Given the description of an element on the screen output the (x, y) to click on. 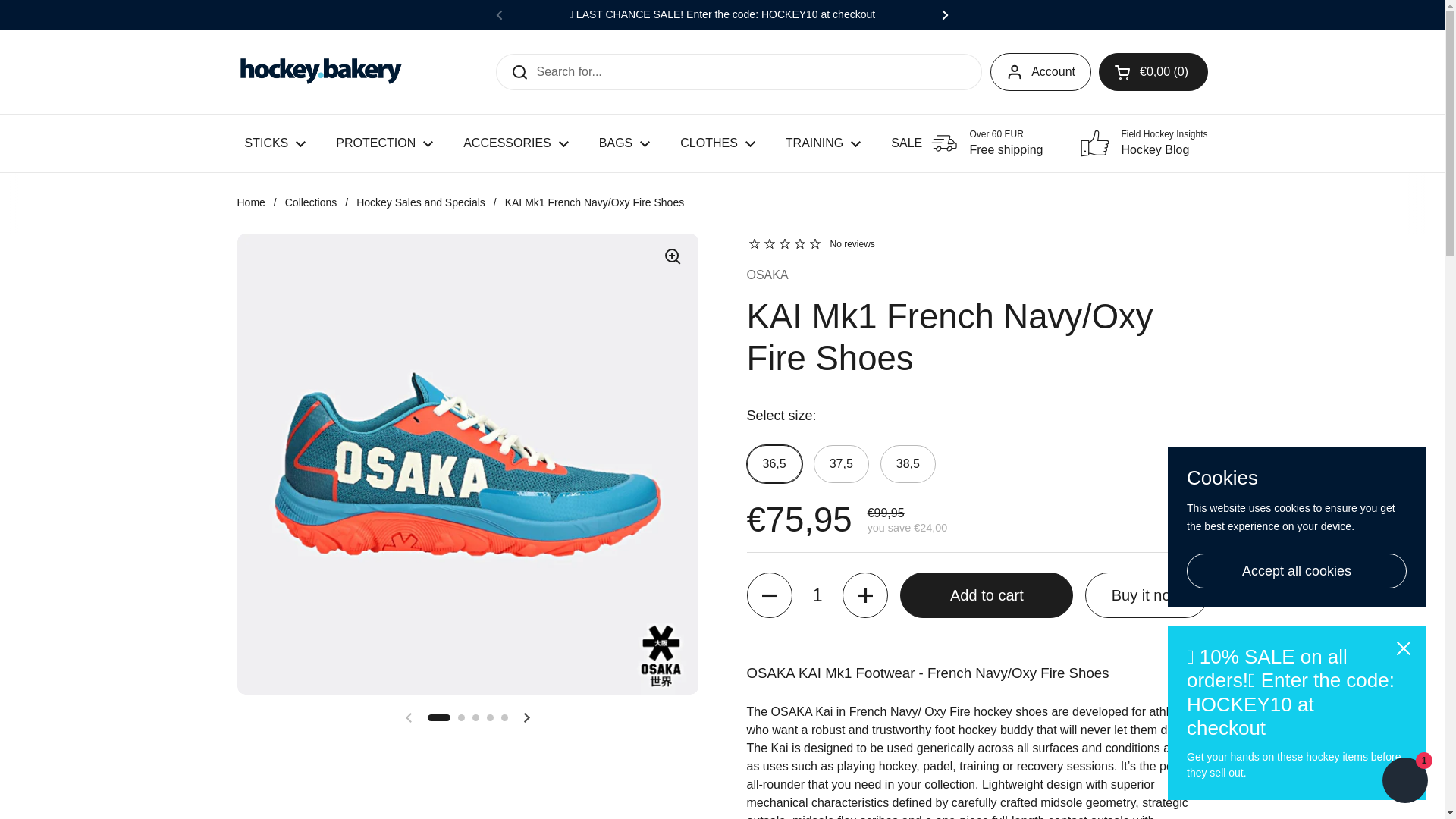
Shopify online store chat (1404, 781)
PROTECTION (384, 143)
1 (817, 595)
Open cart (1153, 71)
STICKS (274, 143)
Account (1040, 71)
